Given the description of an element on the screen output the (x, y) to click on. 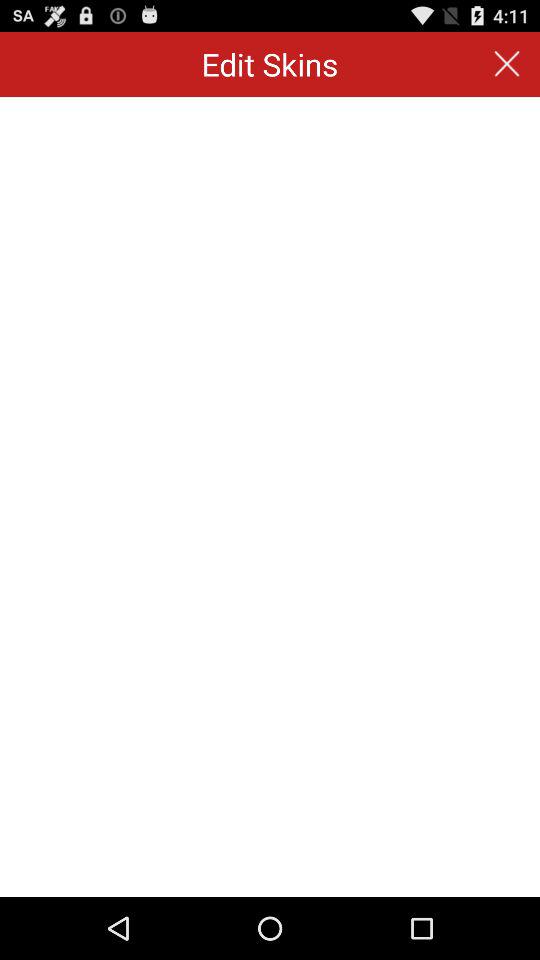
close (506, 64)
